Given the description of an element on the screen output the (x, y) to click on. 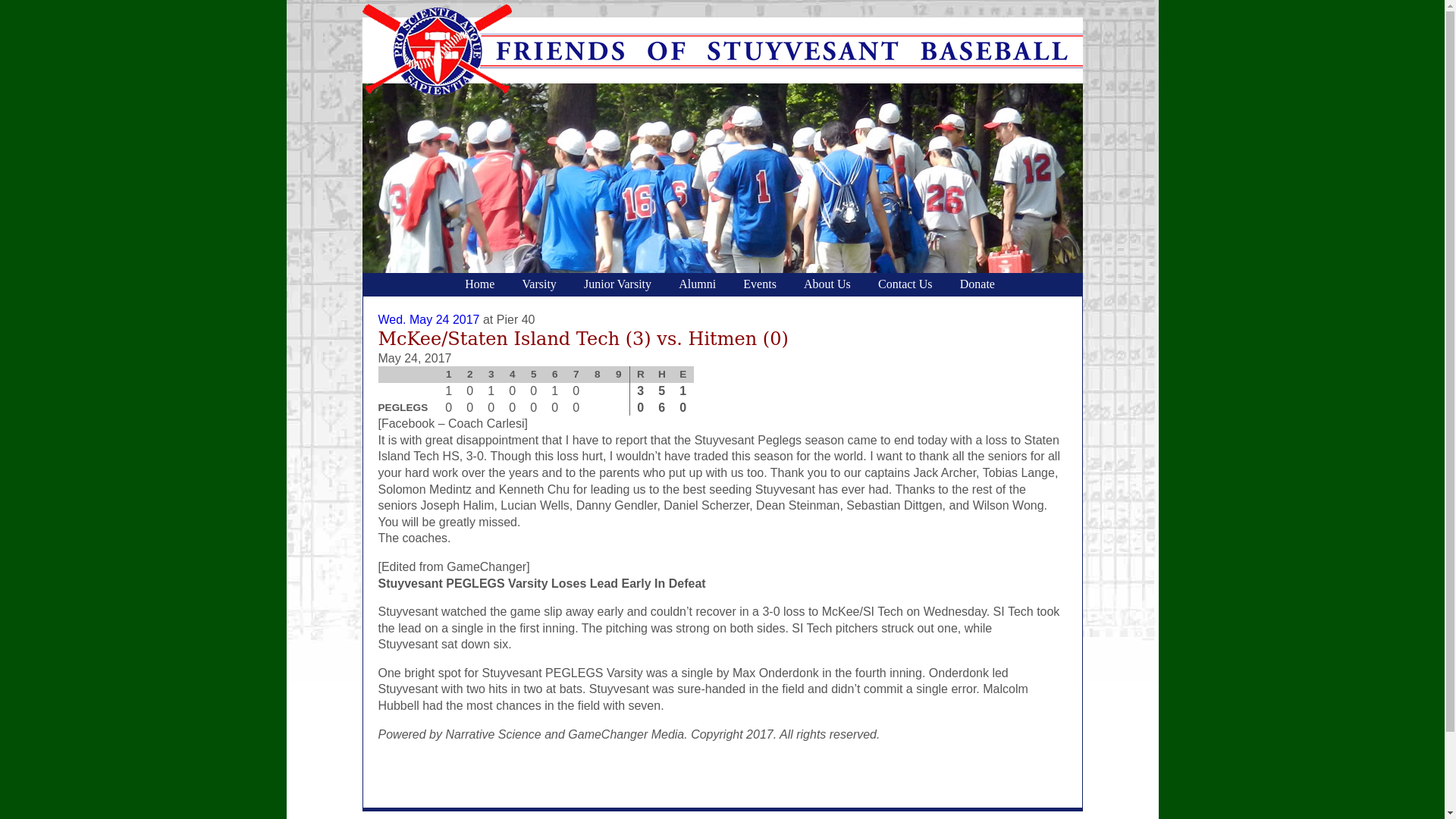
Alumni (697, 284)
Varsity (538, 284)
Contact Us (905, 284)
Events (759, 284)
Home (479, 284)
Junior Varsity (618, 284)
Donate (977, 284)
About Us (827, 284)
Wed. May 24 2017 (428, 318)
